Given the description of an element on the screen output the (x, y) to click on. 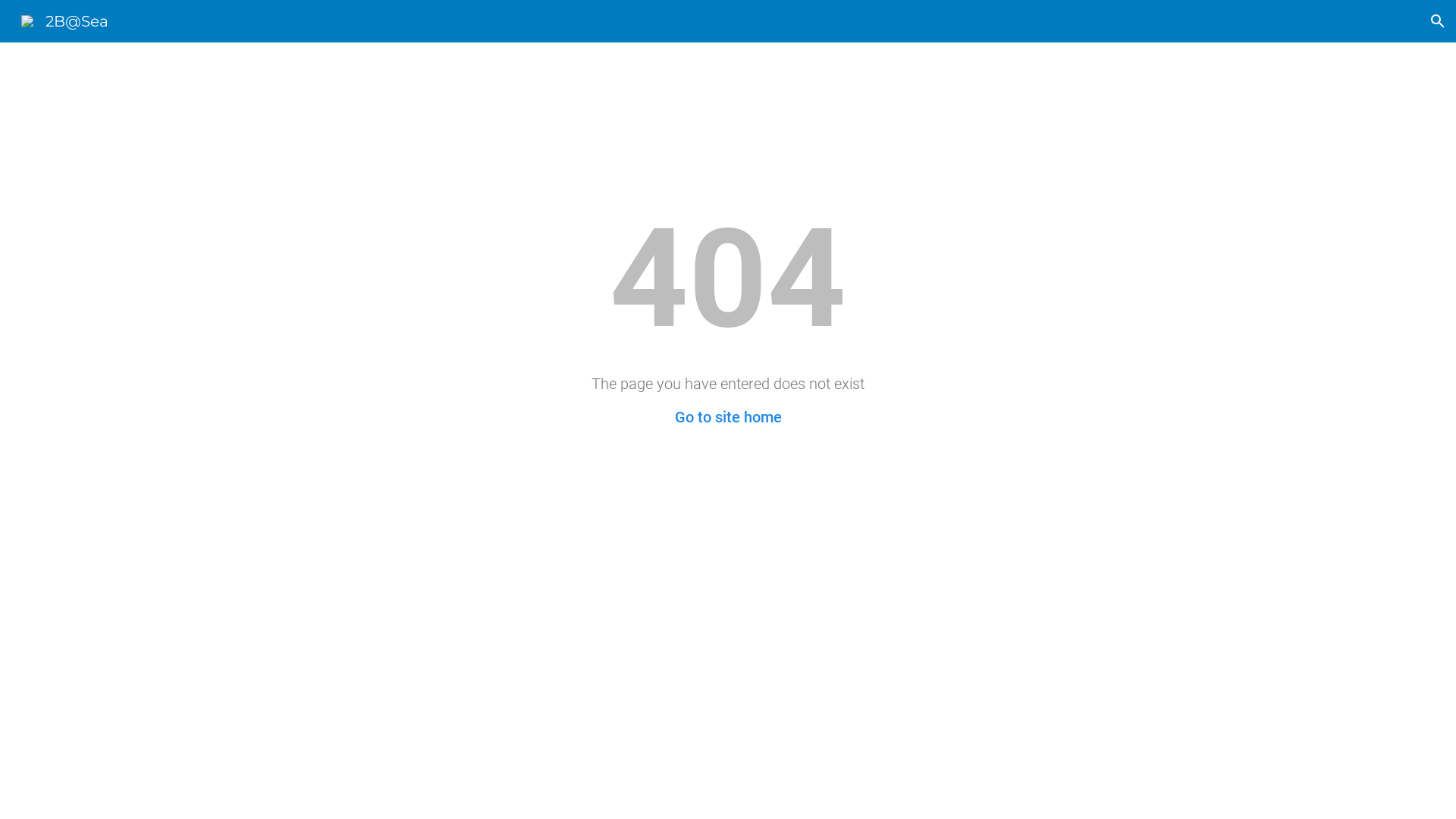
2B@Sea Element type: text (64, 19)
Go to site home Element type: text (727, 416)
